Given the description of an element on the screen output the (x, y) to click on. 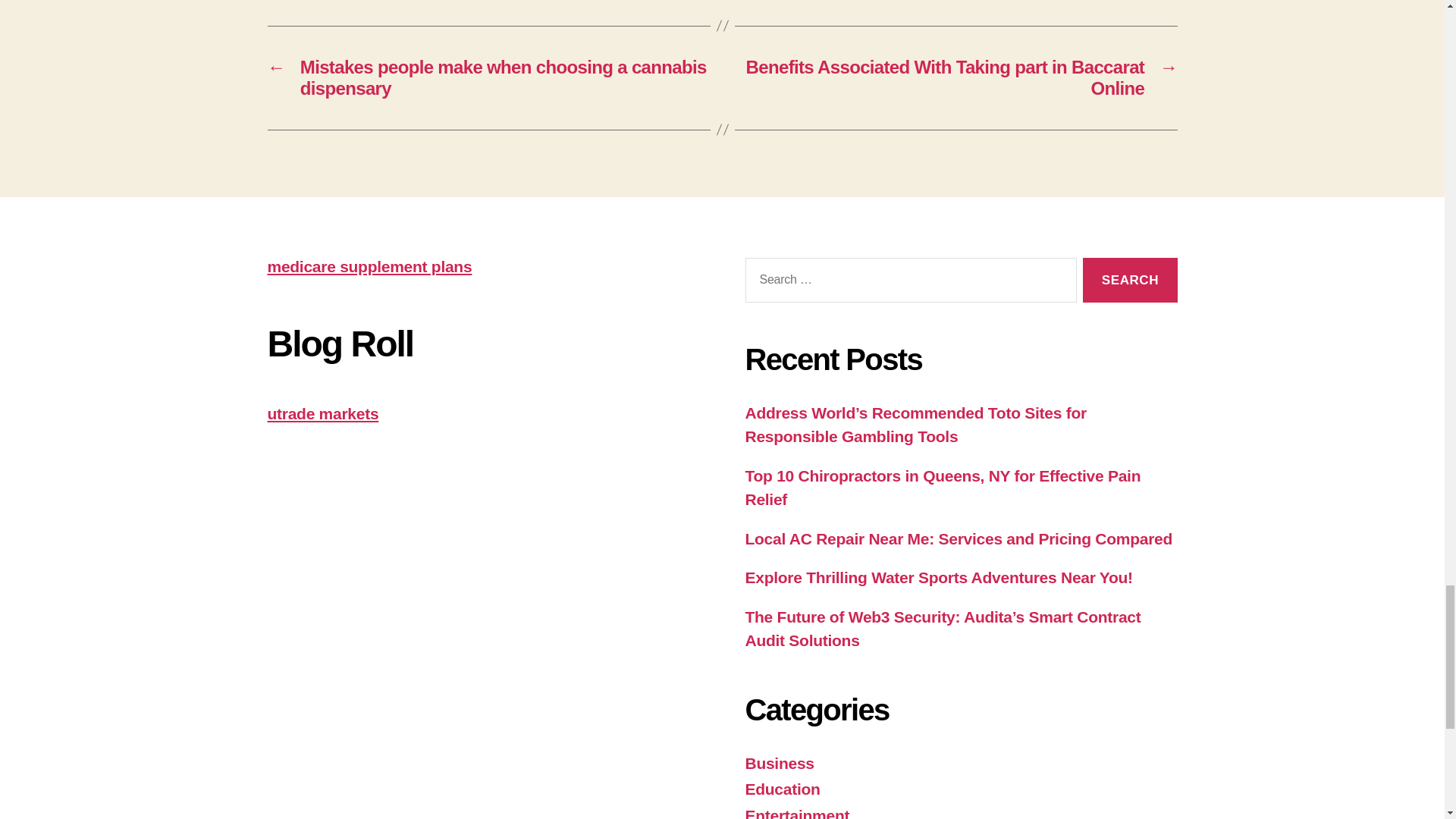
Explore Thrilling Water Sports Adventures Near You! (938, 577)
Business (778, 763)
Entertainment (796, 812)
Search (1129, 279)
Search (1129, 279)
Search (1129, 279)
utrade markets (322, 413)
Top 10 Chiropractors in Queens, NY for Effective Pain Relief (942, 487)
Local AC Repair Near Me: Services and Pricing Compared (958, 538)
medicare supplement plans (368, 266)
Education (781, 788)
